Given the description of an element on the screen output the (x, y) to click on. 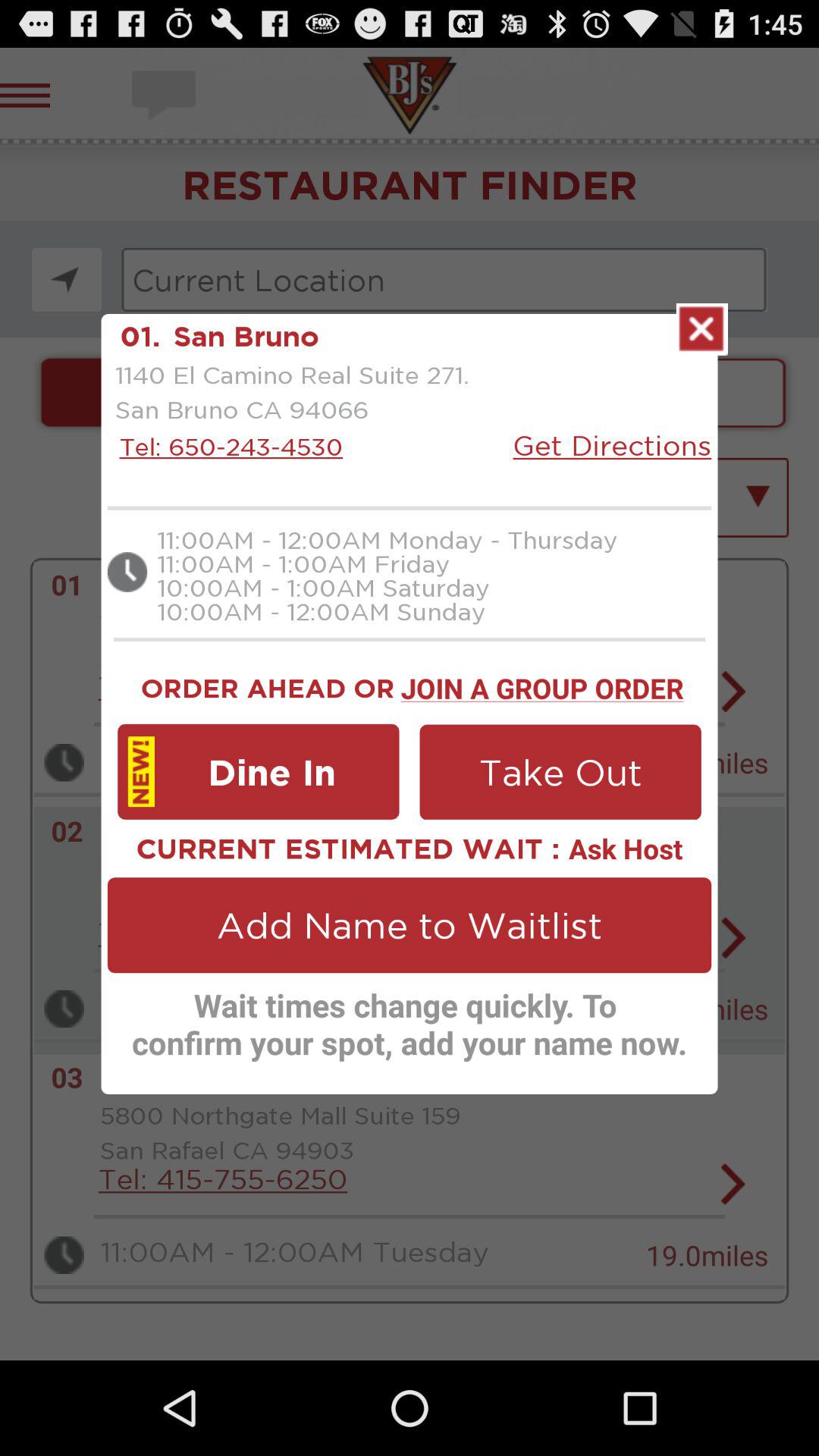
turn on icon next to the get directions icon (226, 446)
